Given the description of an element on the screen output the (x, y) to click on. 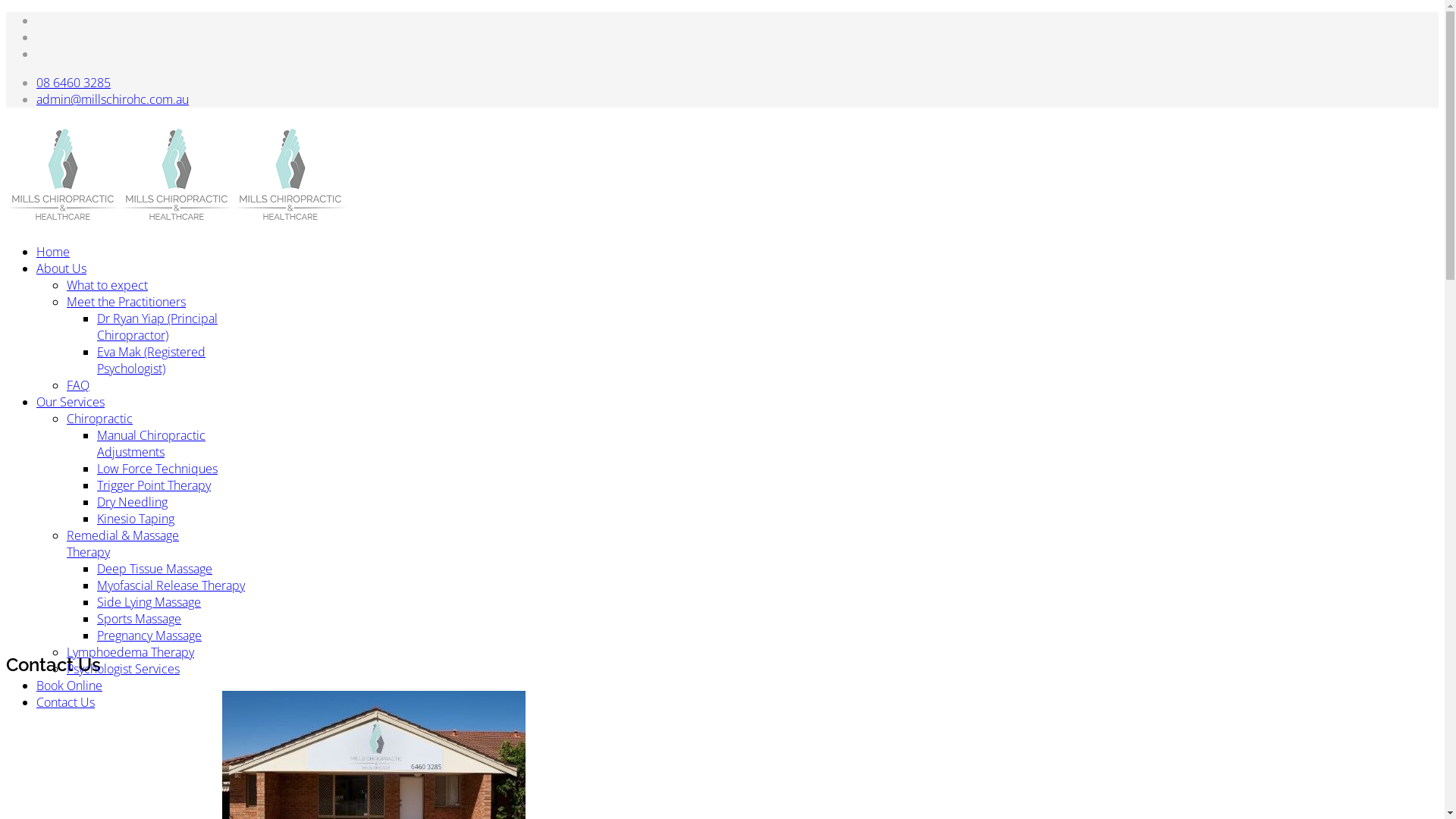
Myofascial Release Therapy Element type: text (170, 585)
08 6460 3285 Element type: text (73, 82)
Home Element type: text (52, 251)
Kinesio Taping Element type: text (135, 518)
Trigger Point Therapy Element type: text (153, 484)
Book Online Element type: text (69, 685)
Manual Chiropractic Adjustments Element type: text (151, 443)
About Us Element type: text (61, 268)
Remedial & Massage Therapy Element type: text (122, 543)
Sports Massage Element type: text (139, 618)
Lymphoedema Therapy Element type: text (130, 651)
Meet the Practitioners Element type: text (125, 301)
Chiropractic Element type: text (99, 418)
Side Lying Massage Element type: text (148, 601)
Deep Tissue Massage Element type: text (154, 568)
Contact Us Element type: text (65, 701)
admin@millschirohc.com.au Element type: text (112, 99)
FAQ Element type: text (77, 384)
Dry Needling Element type: text (132, 501)
Low Force Techniques Element type: text (157, 468)
Dr Ryan Yiap (Principal Chiropractor) Element type: text (157, 326)
Eva Mak (Registered Psychologist) Element type: text (151, 359)
Psychologist Services Element type: text (122, 668)
Our Services Element type: text (70, 401)
Pregnancy Massage Element type: text (149, 635)
What to expect Element type: text (106, 284)
